Given the description of an element on the screen output the (x, y) to click on. 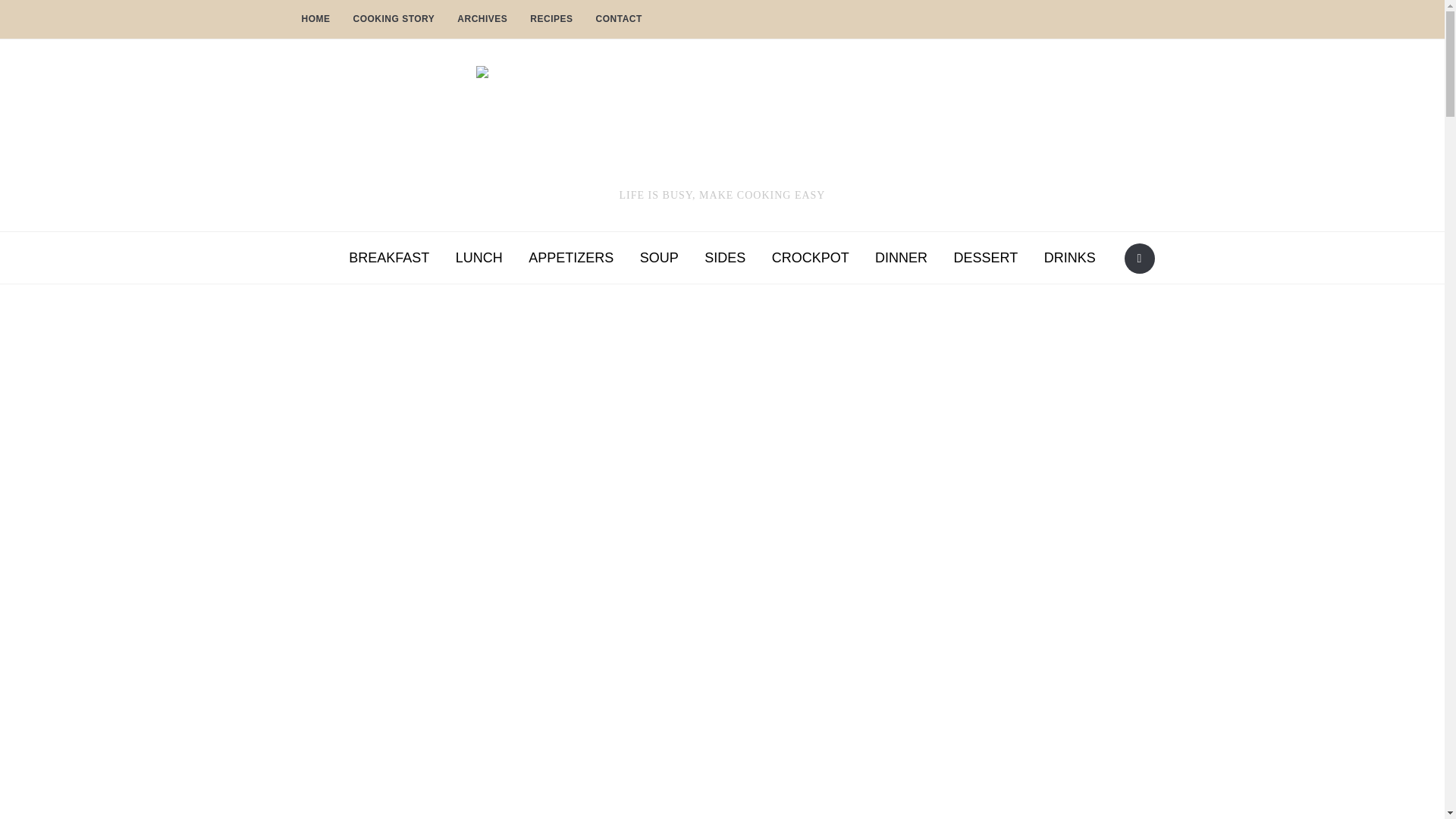
APPETIZERS (570, 257)
BREAKFAST (389, 257)
RECIPES (550, 19)
DRINKS (1069, 257)
DINNER (901, 257)
Search (1139, 258)
CONTACT (619, 19)
SIDES (725, 257)
HOME (314, 19)
DESSERT (985, 257)
